Given the description of an element on the screen output the (x, y) to click on. 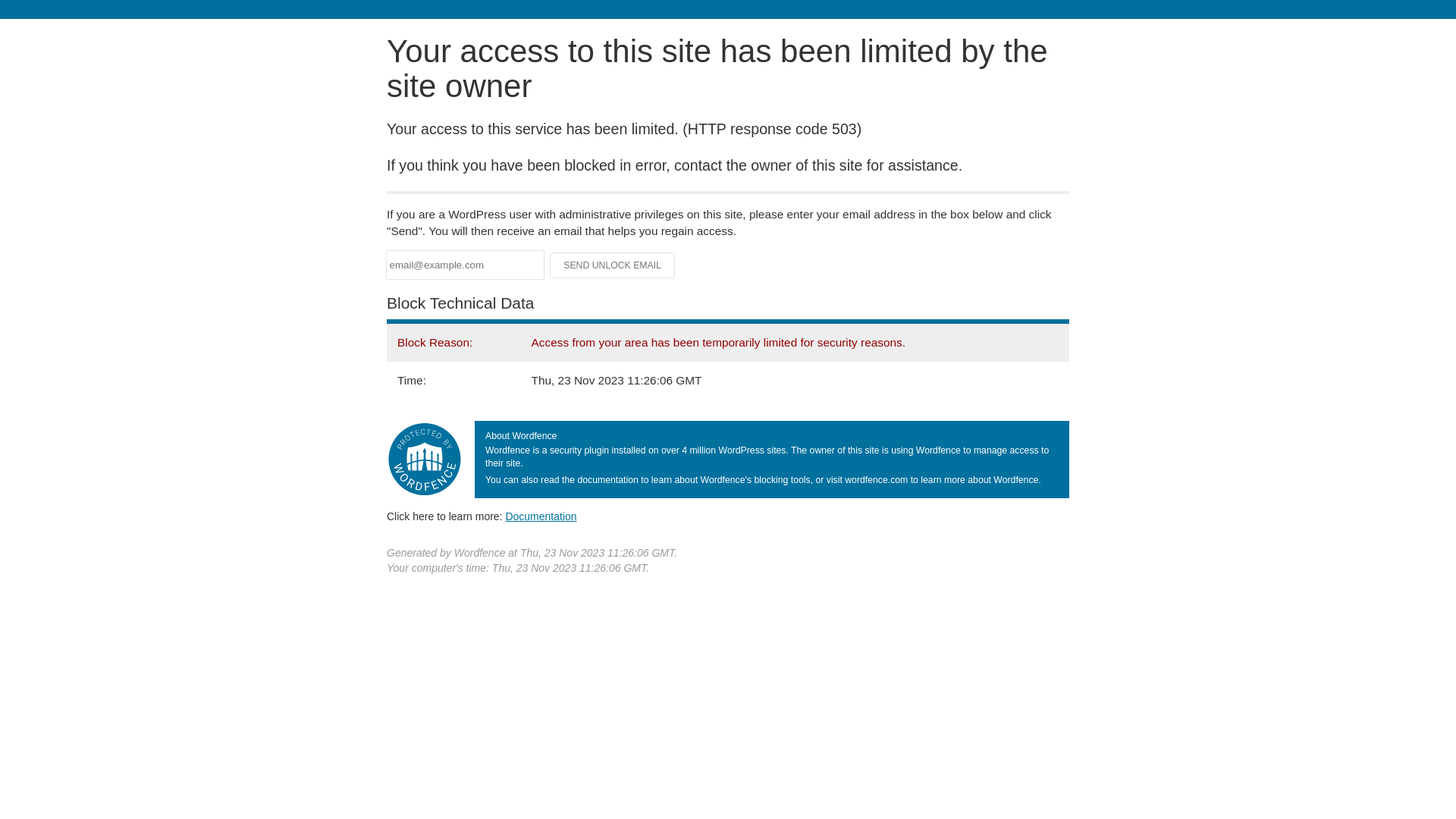
Documentation Element type: text (540, 516)
Send Unlock Email Element type: text (612, 265)
